Given the description of an element on the screen output the (x, y) to click on. 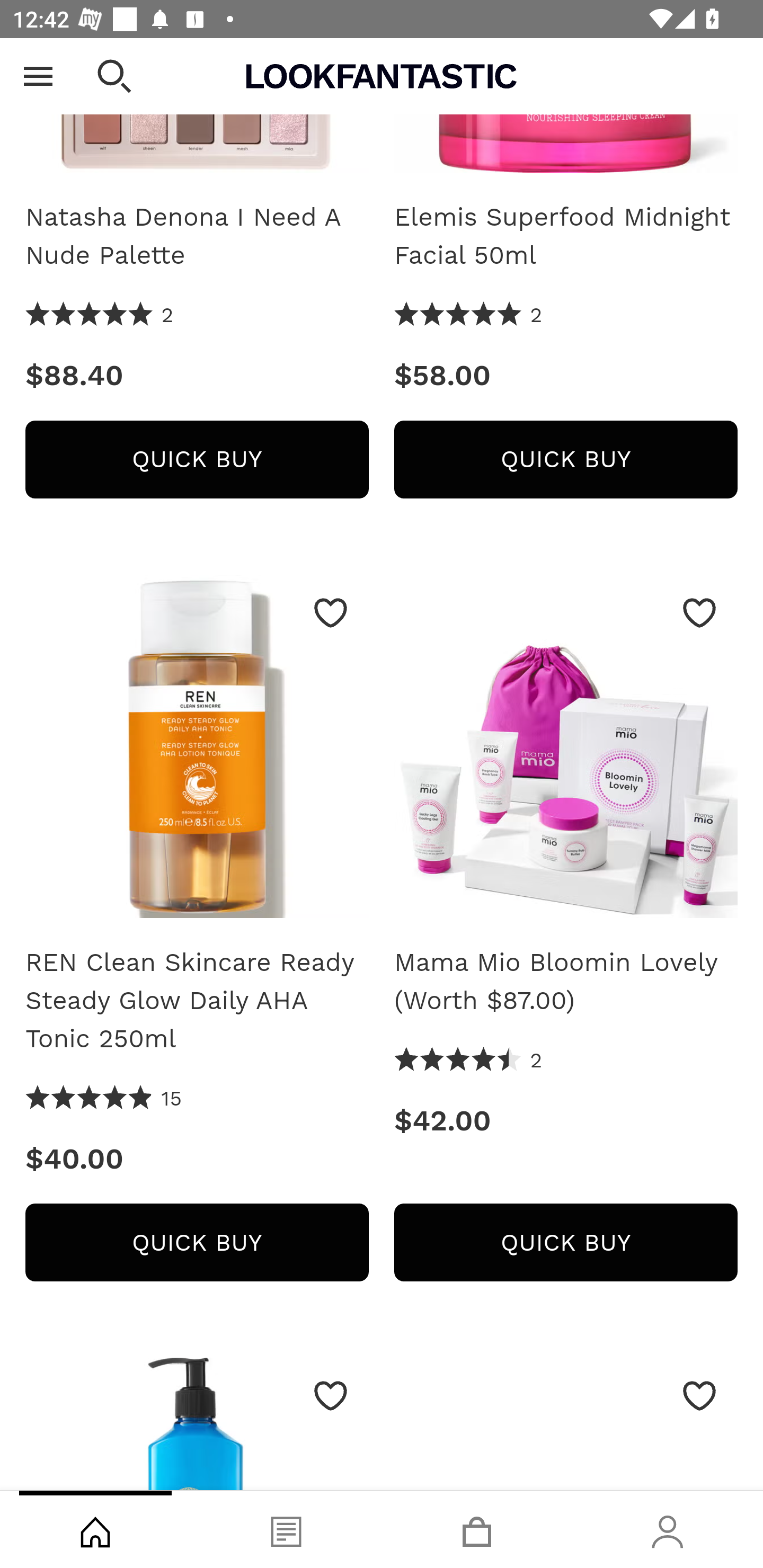
Natasha Denona I Need A Nude Palette (196, 235)
Elemis Superfood Midnight Facial 50ml (565, 235)
5.0 Stars 2 Reviews (99, 315)
5.0 Stars 2 Reviews (468, 315)
Price: $88.40 (196, 375)
Price: $58.00 (565, 375)
QUICK BUY NATASHA DENONA I NEED A NUDE PALETTE (196, 459)
QUICK BUY ELEMIS SUPERFOOD MIDNIGHT FACIAL 50ML (565, 459)
Mama Mio Bloomin Lovely (Worth $87.00) (565, 752)
Save to Wishlist (330, 612)
Save to Wishlist (698, 612)
Mama Mio Bloomin Lovely (Worth $87.00) (565, 981)
4.5 Stars 2 Reviews (468, 1060)
4.93 Stars 15 Reviews (104, 1097)
Price: $42.00 (565, 1120)
Price: $40.00 (196, 1159)
QUICK BUY MAMA MIO BLOOMIN LOVELY (WORTH $87.00) (565, 1242)
Save to Wishlist (330, 1396)
Save to Wishlist (698, 1396)
Shop, tab, 1 of 4 (95, 1529)
Blog, tab, 2 of 4 (285, 1529)
Basket, tab, 3 of 4 (476, 1529)
Account, tab, 4 of 4 (667, 1529)
